Given the description of an element on the screen output the (x, y) to click on. 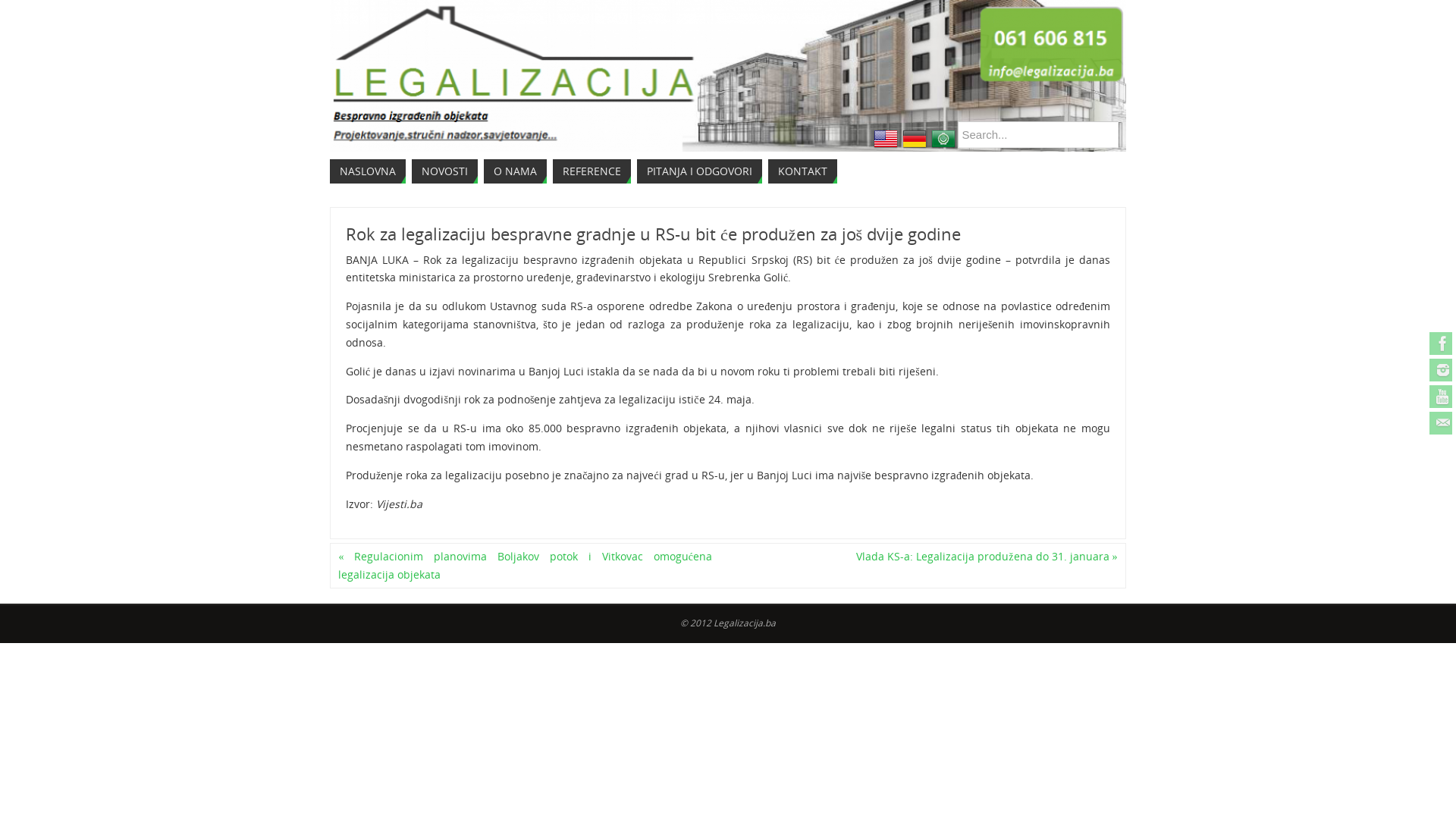
Instagram Element type: hover (1440, 369)
PITANJA I ODGOVORI Element type: text (699, 171)
Facebook Element type: hover (1440, 343)
English (en_US) Element type: hover (884, 138)
Kontakt Element type: hover (1440, 422)
YouTube Element type: hover (1440, 396)
NOVOSTI Element type: text (444, 171)
Deutsch (de_DE) Element type: hover (913, 138)
KONTAKT Element type: text (802, 171)
O NAMA Element type: text (514, 171)
NASLOVNA Element type: text (367, 171)
REFERENCE Element type: text (591, 171)
